Given the description of an element on the screen output the (x, y) to click on. 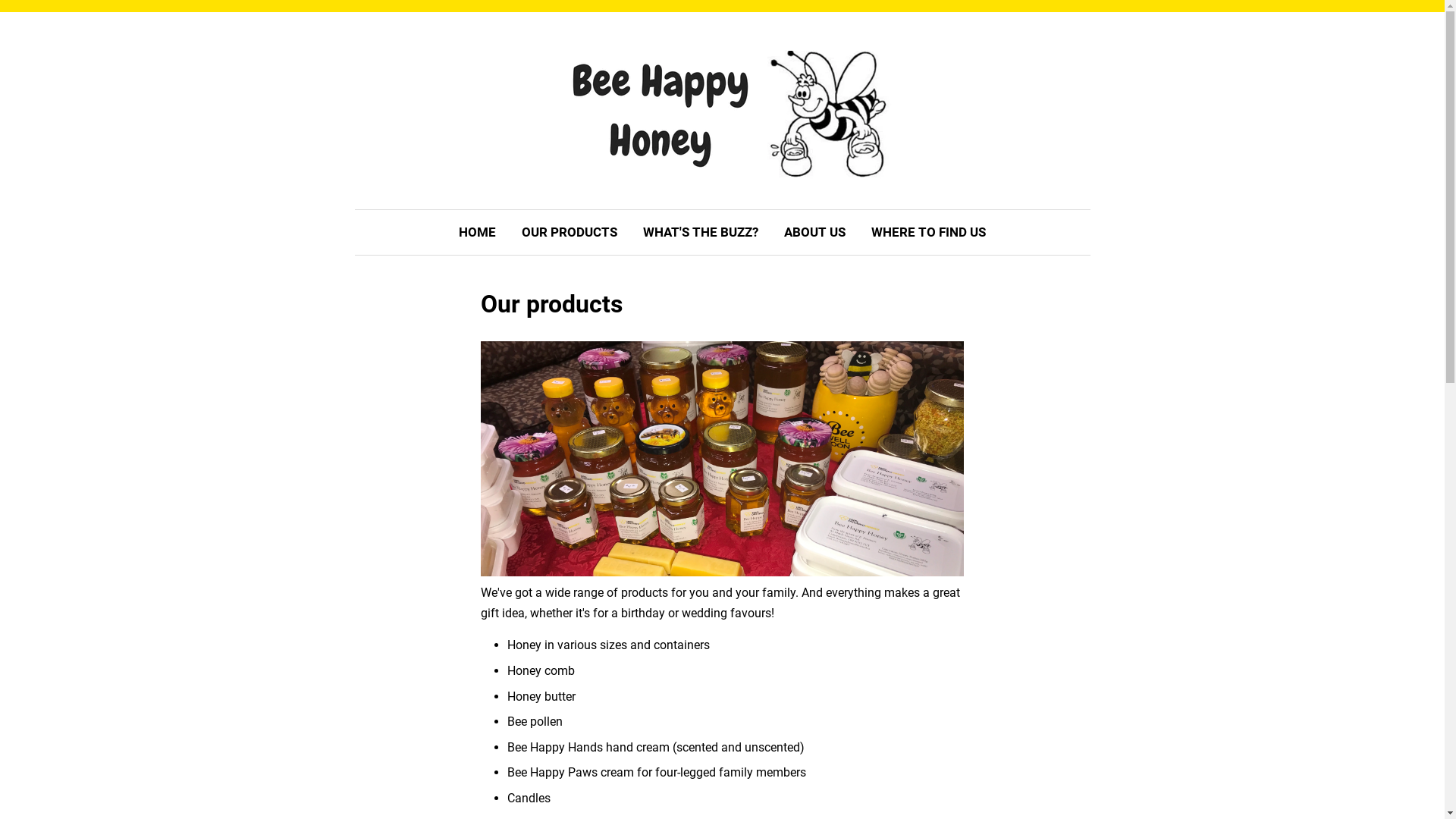
OUR PRODUCTS Element type: text (569, 232)
WHERE TO FIND US Element type: text (922, 232)
ABOUT US Element type: text (814, 232)
HOME Element type: text (482, 232)
WHAT'S THE BUZZ? Element type: text (700, 232)
